Given the description of an element on the screen output the (x, y) to click on. 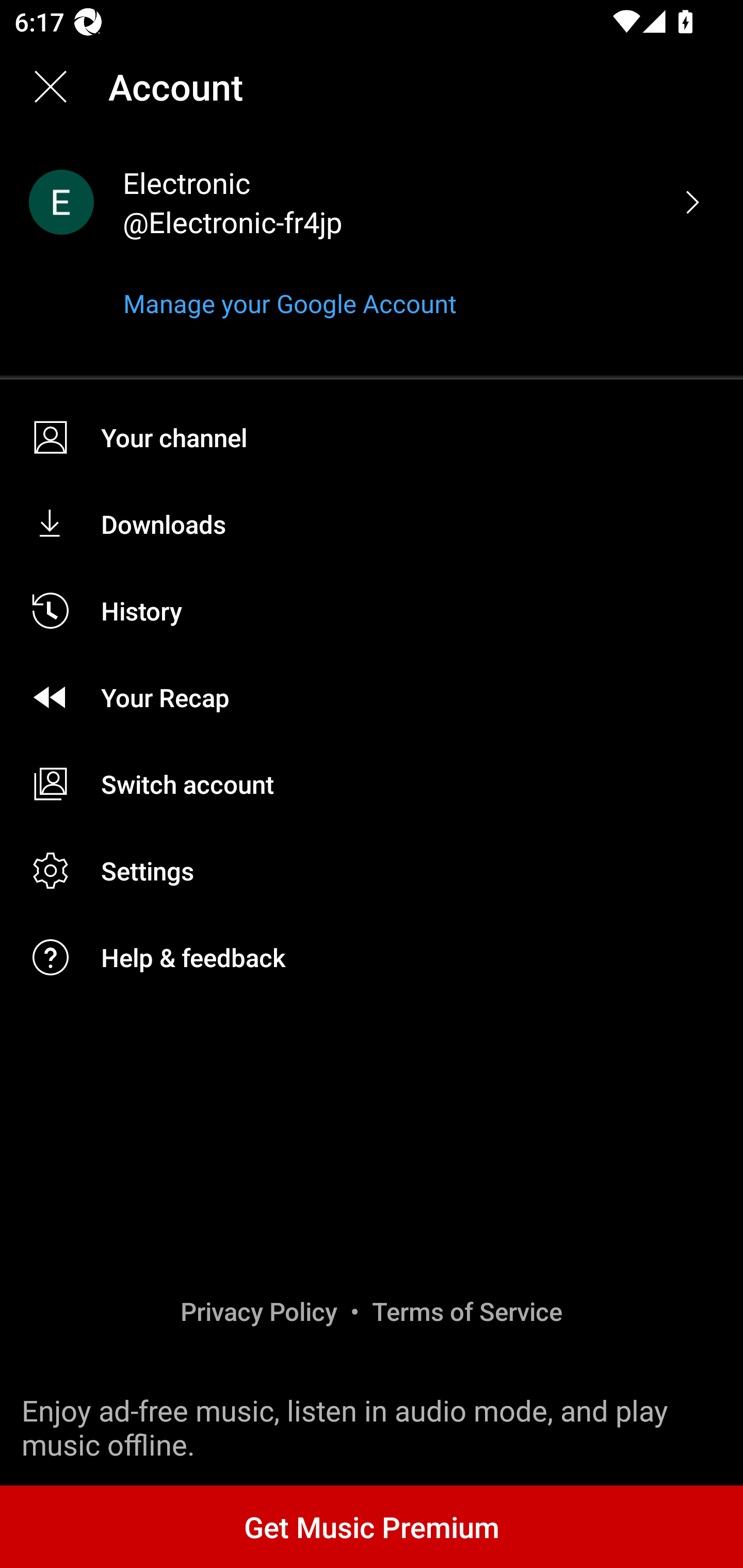
Close (50, 86)
Switch accounts (692, 202)
Manage your Google Account (289, 303)
Your channel (371, 437)
Downloads (371, 524)
History (371, 610)
Your Recap (371, 696)
Switch account (371, 783)
Settings (371, 870)
Help & feedback (371, 957)
Privacy Policy (259, 1311)
Terms of Service (466, 1311)
Get Music Premium (371, 1526)
